Given the description of an element on the screen output the (x, y) to click on. 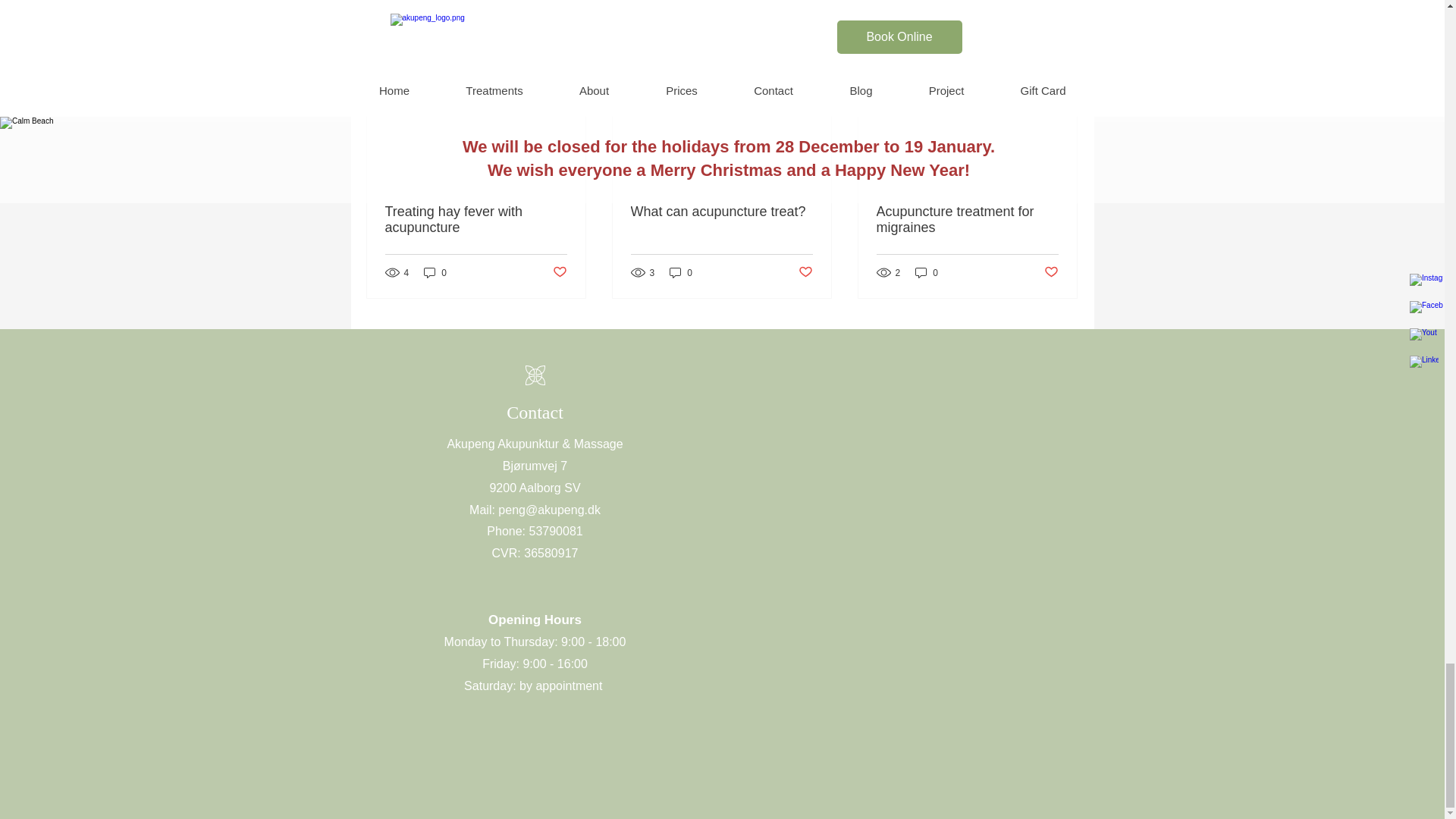
0 (435, 272)
Treating hay fever with acupuncture (476, 219)
See All (1061, 35)
Post not marked as liked (558, 272)
